Given the description of an element on the screen output the (x, y) to click on. 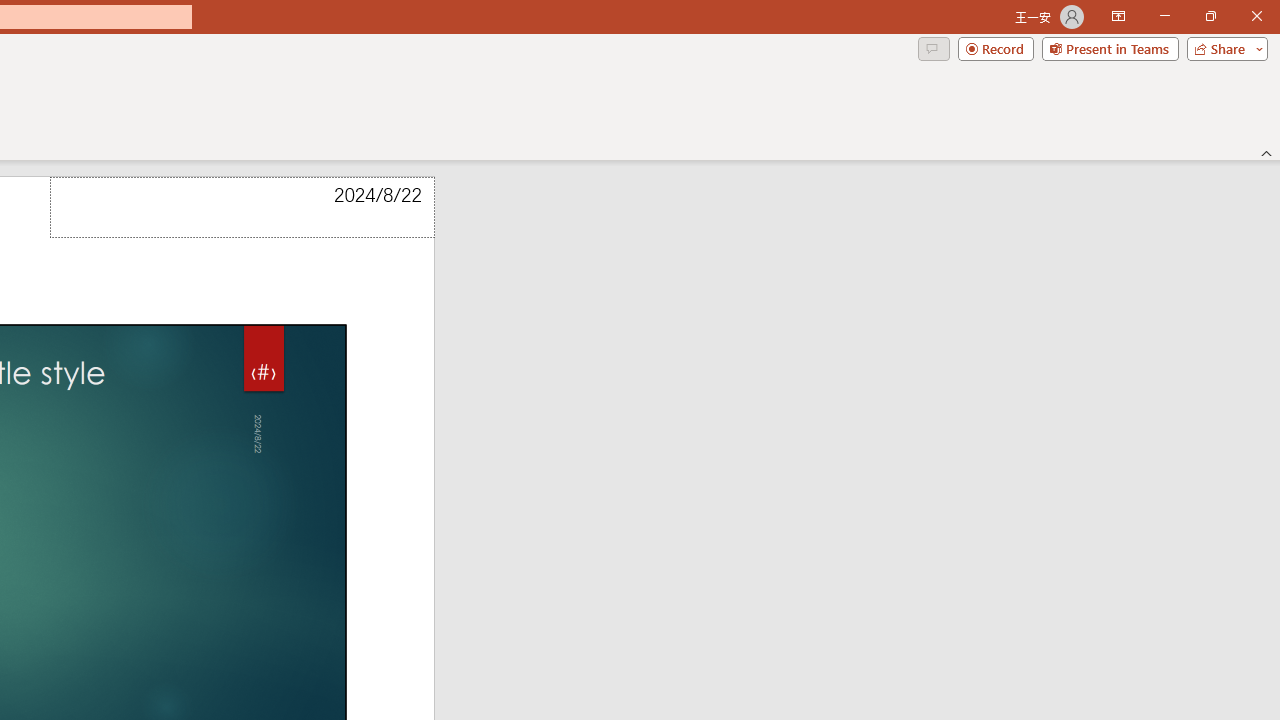
Date (242, 207)
